Given the description of an element on the screen output the (x, y) to click on. 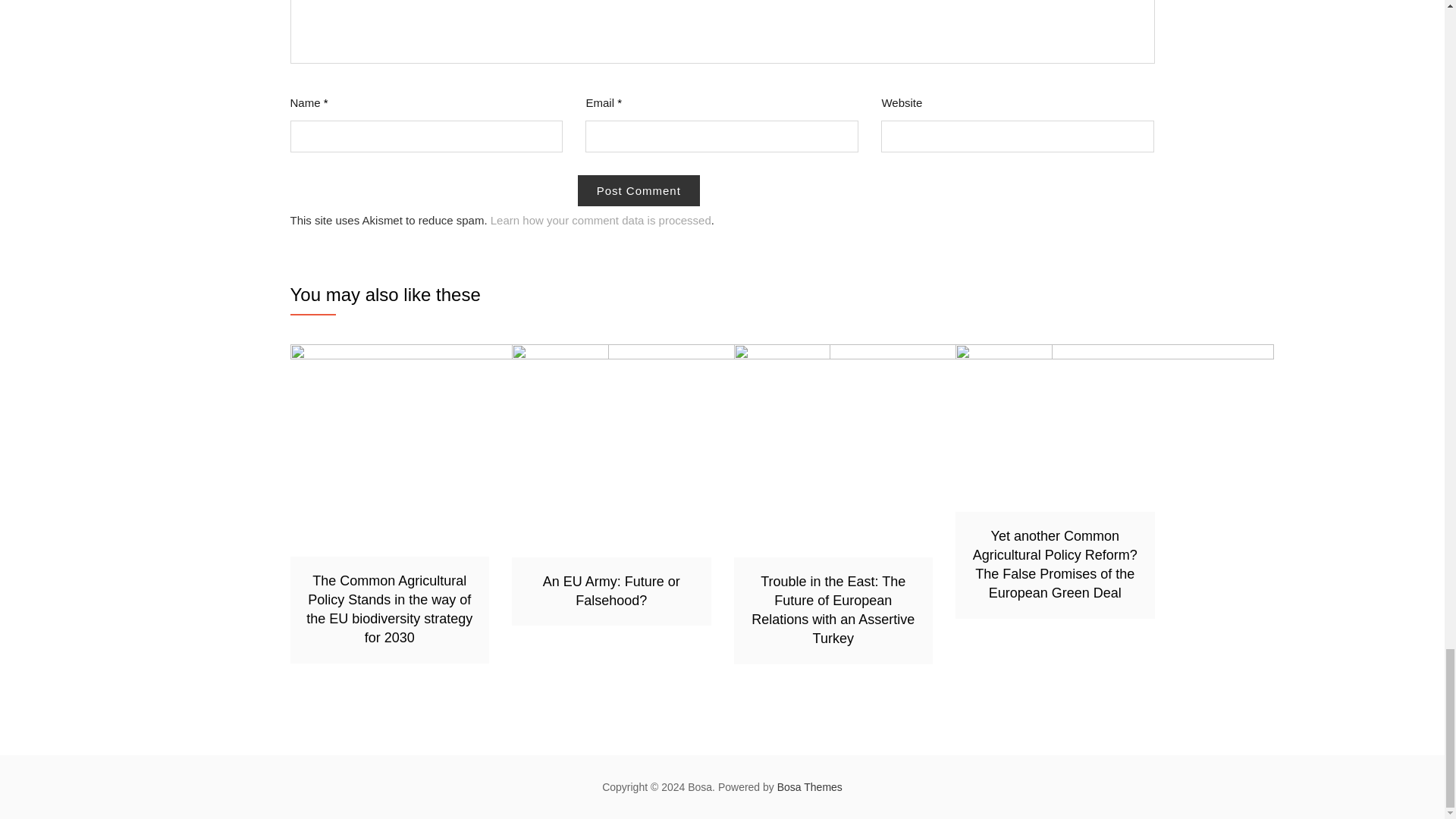
Post Comment (639, 190)
